Given the description of an element on the screen output the (x, y) to click on. 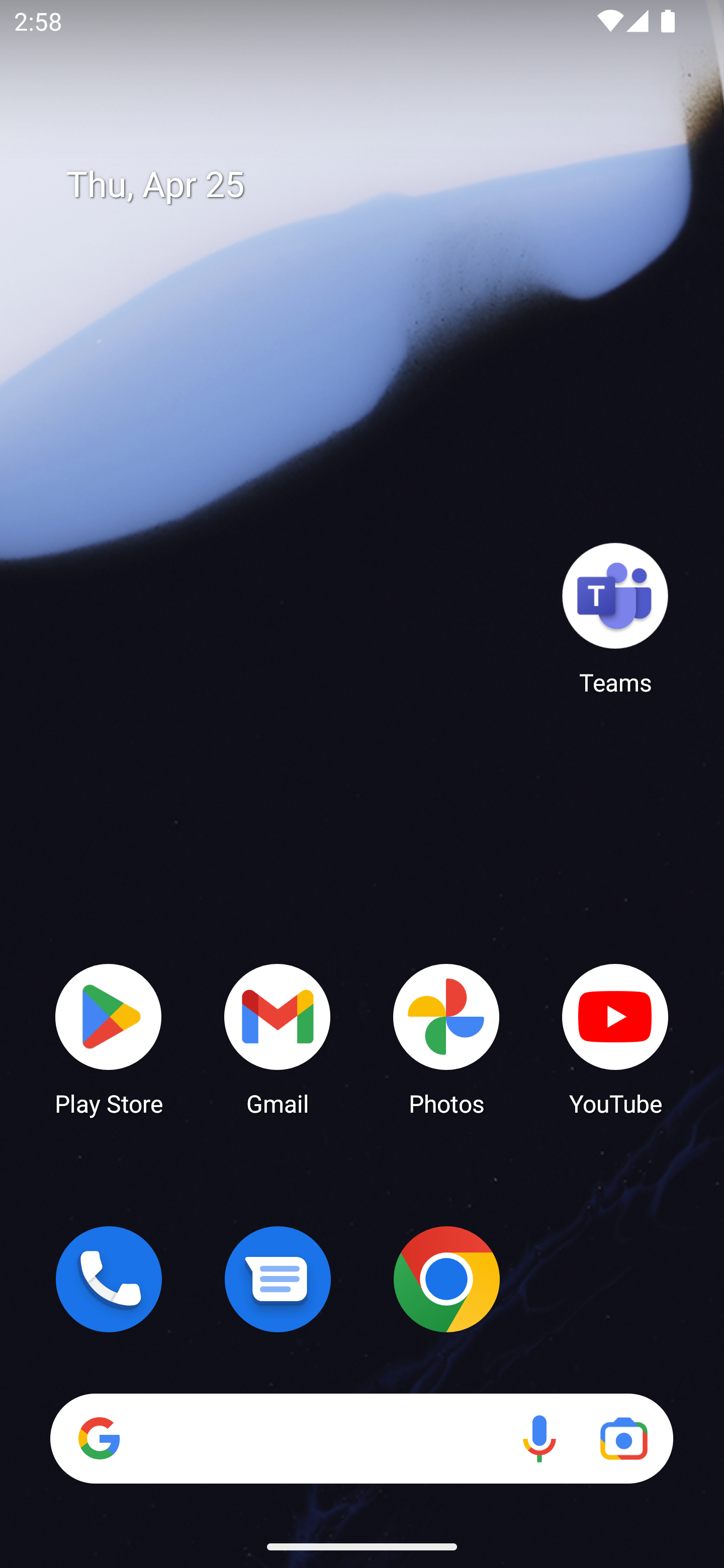
Thu, Apr 25 (375, 184)
Teams (615, 617)
Play Store (108, 1038)
Gmail (277, 1038)
Photos (445, 1038)
YouTube (615, 1038)
Phone (108, 1279)
Messages (277, 1279)
Chrome (446, 1279)
Search Voice search Google Lens (361, 1438)
Voice search (539, 1438)
Google Lens (623, 1438)
